Given the description of an element on the screen output the (x, y) to click on. 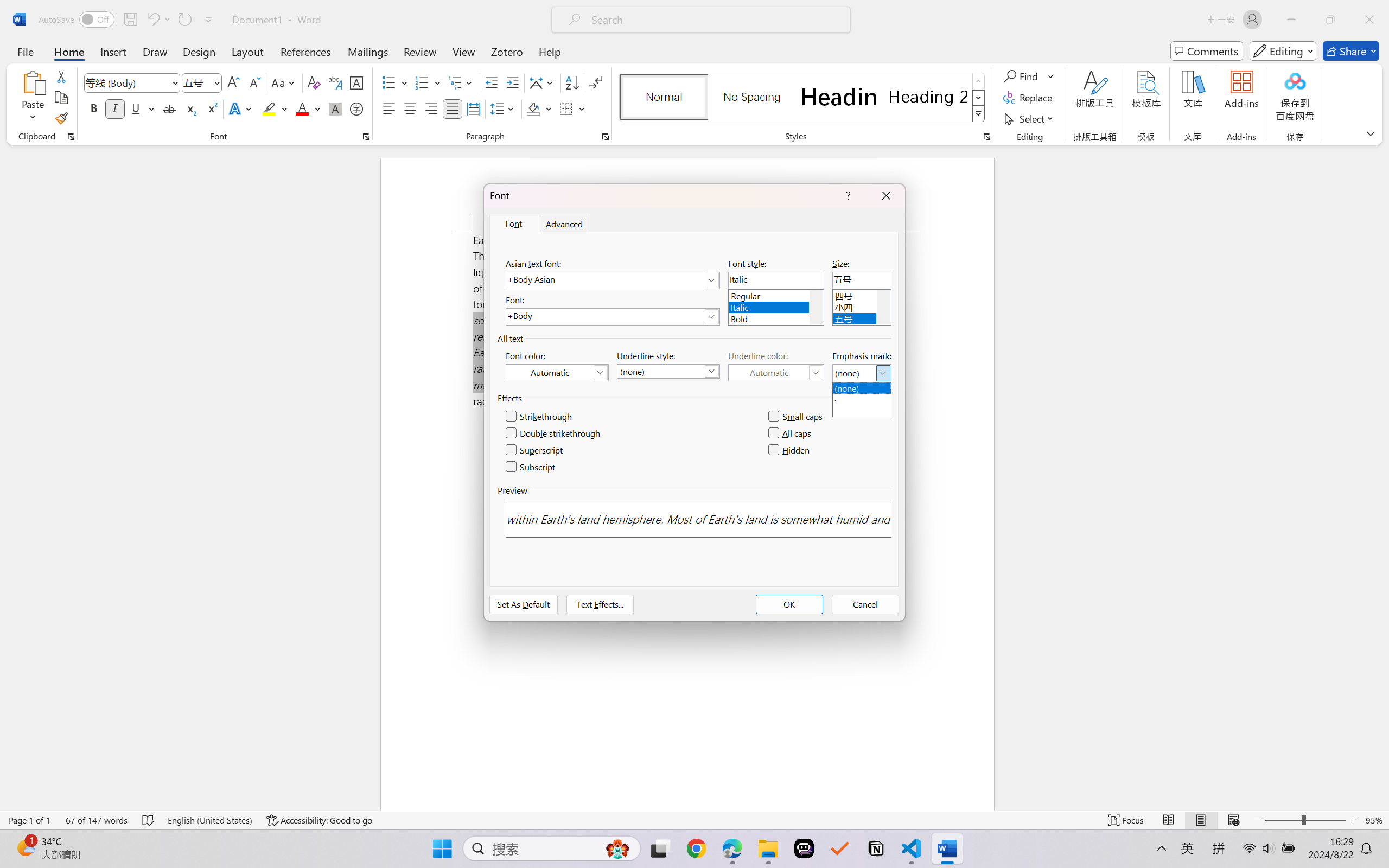
Increase Indent (512, 82)
Superscript (210, 108)
Italic (775, 305)
All caps (790, 433)
Grow Font (233, 82)
Asian text font: (612, 280)
Sort... (571, 82)
Clear Formatting (313, 82)
